Given the description of an element on the screen output the (x, y) to click on. 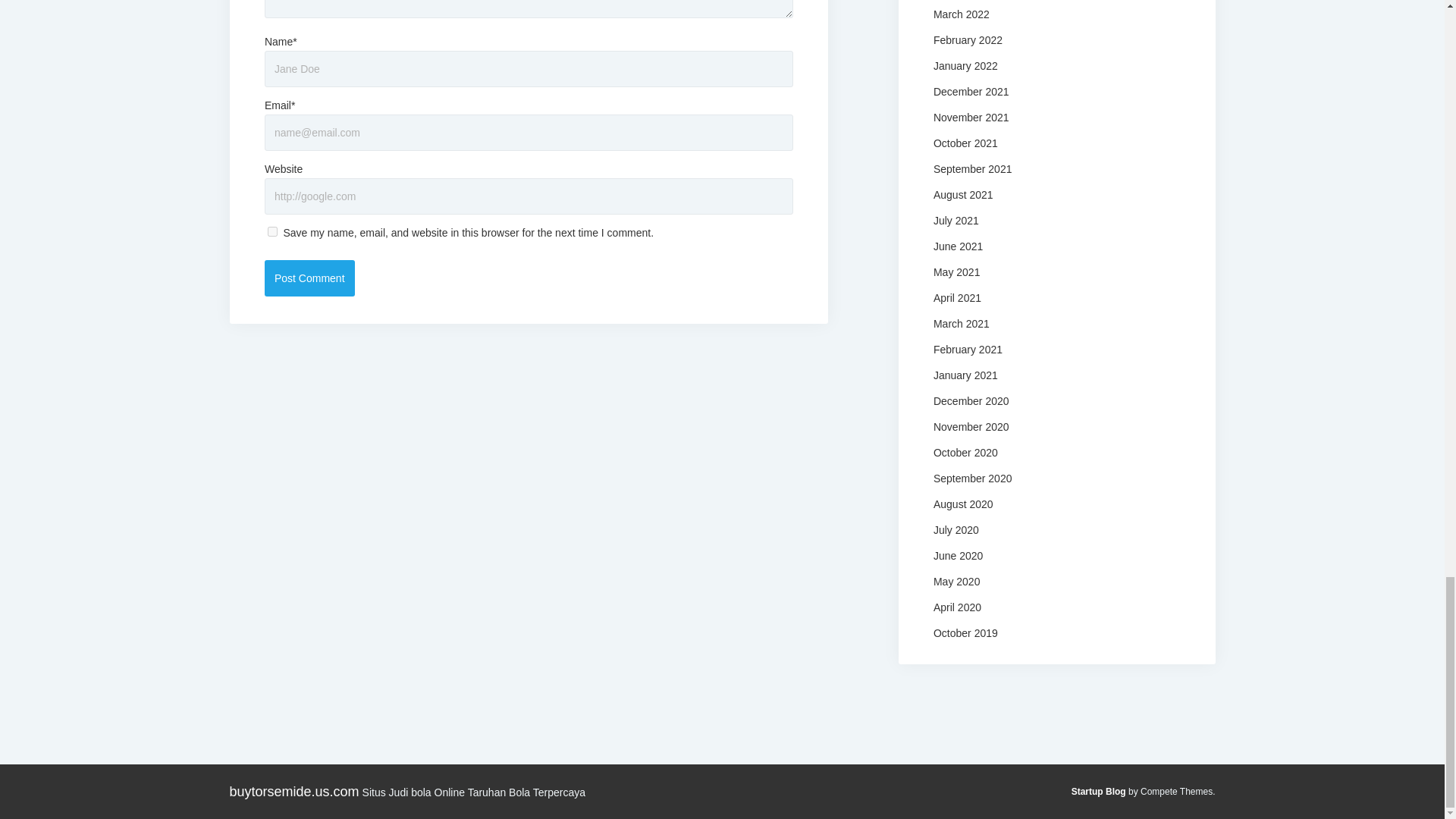
Post Comment (309, 278)
yes (272, 231)
Post Comment (309, 278)
